Given the description of an element on the screen output the (x, y) to click on. 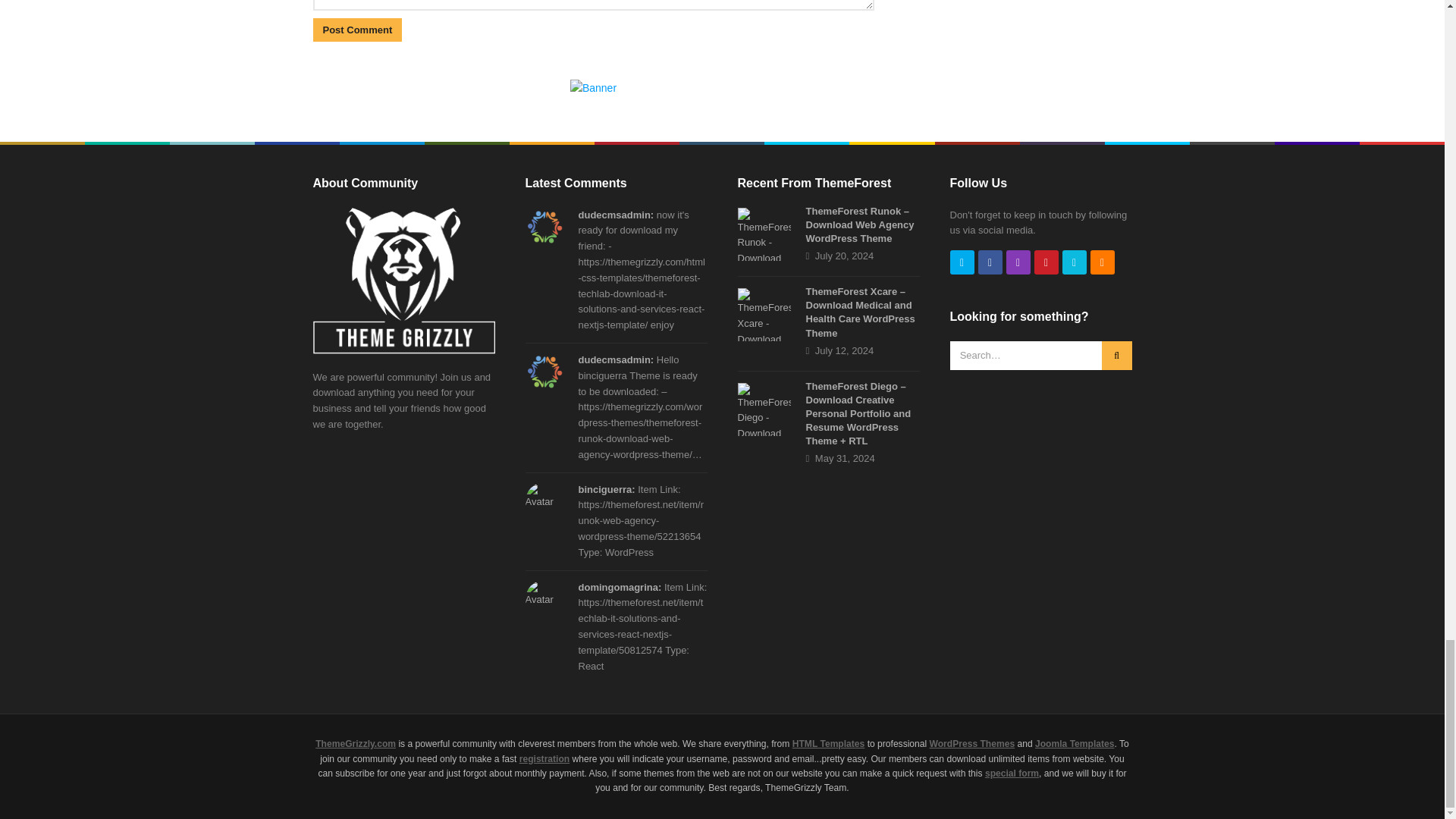
Post Comment (357, 29)
